Given the description of an element on the screen output the (x, y) to click on. 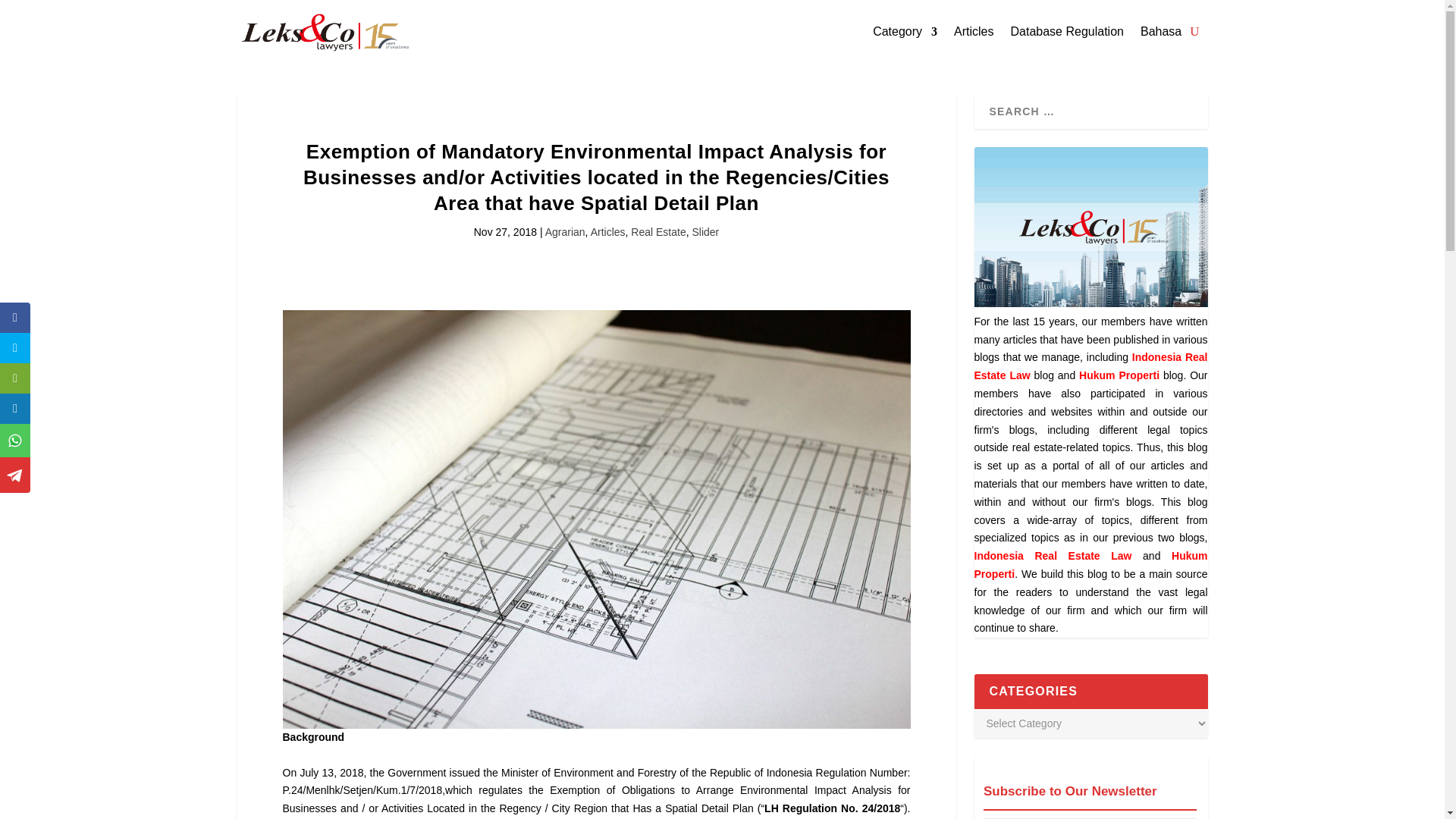
Category (904, 31)
Database Regulation (1067, 31)
